Given the description of an element on the screen output the (x, y) to click on. 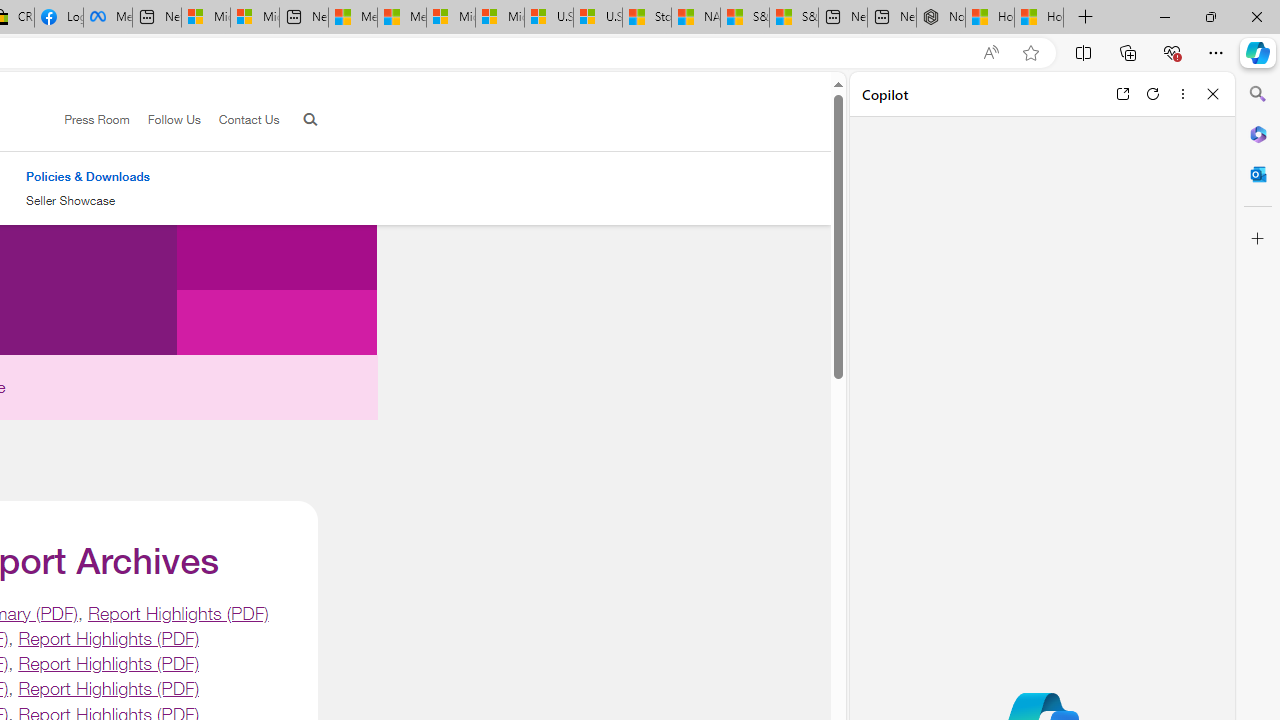
Meta Store (107, 17)
Press Room (88, 120)
Follow Us (173, 119)
Customize (1258, 239)
